Given the description of an element on the screen output the (x, y) to click on. 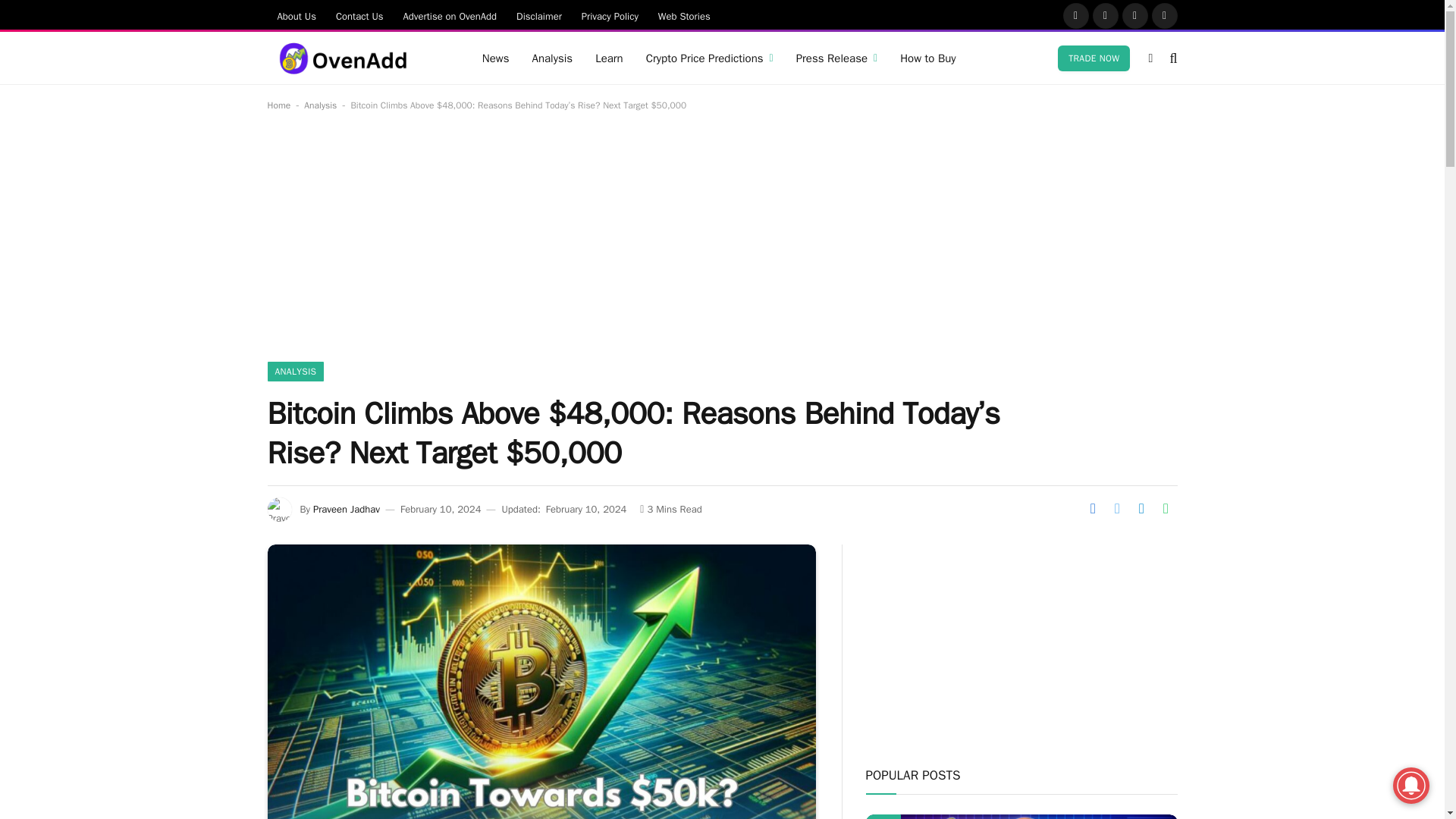
TRADE NOW (1093, 58)
Press Release (836, 57)
Share on WhatsApp (1165, 508)
Share on Facebook (1092, 508)
Disclaimer (539, 15)
Web Stories (683, 15)
Posts by Praveen Jadhav (346, 508)
Analysis (551, 57)
Telegram (1164, 15)
Crypto Price Predictions (709, 57)
Contact Us (359, 15)
ANALYSIS (294, 371)
Share on Telegram (1141, 508)
Privacy Policy (609, 15)
